Given the description of an element on the screen output the (x, y) to click on. 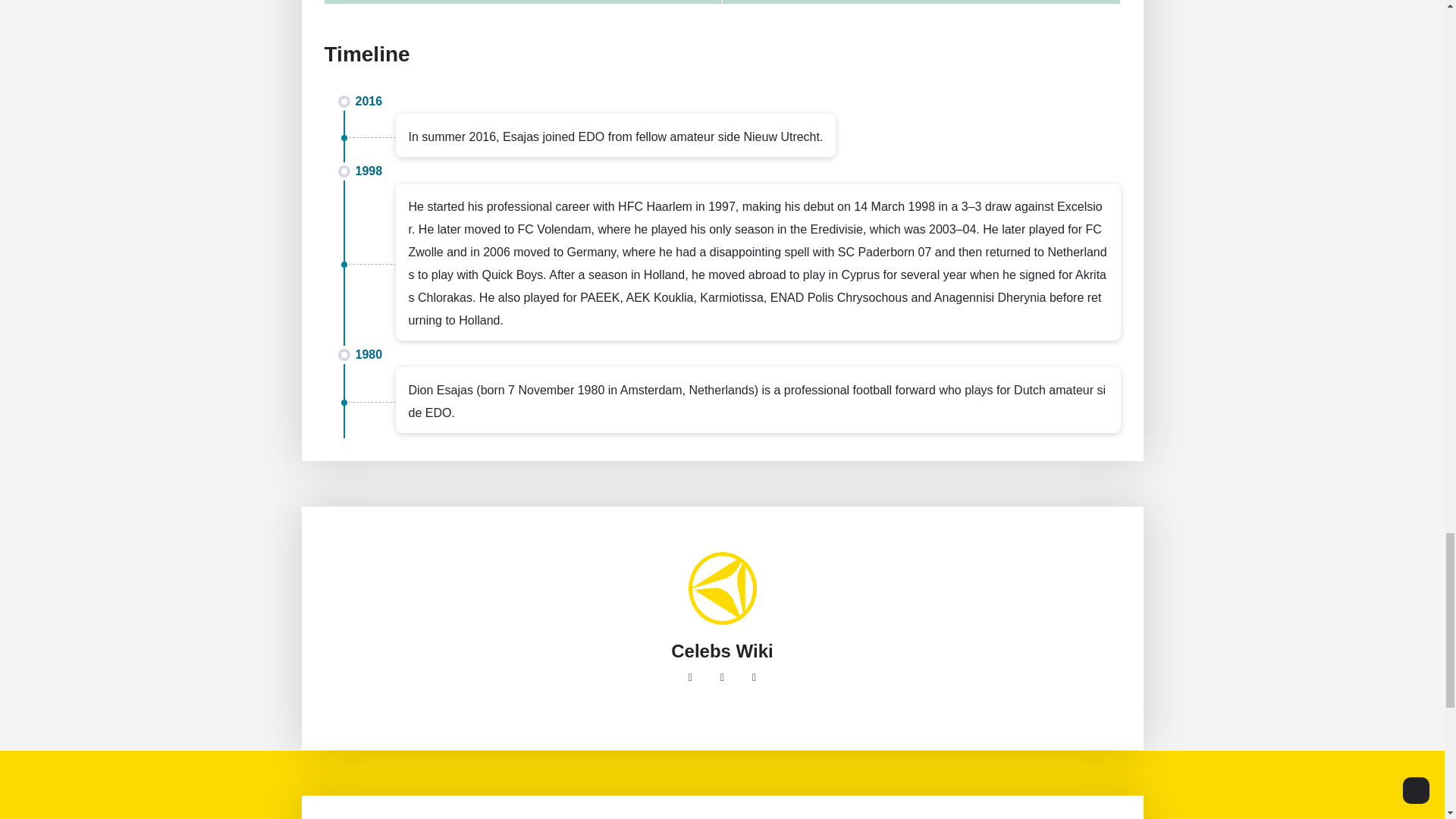
Celebs Wiki (722, 650)
